Given the description of an element on the screen output the (x, y) to click on. 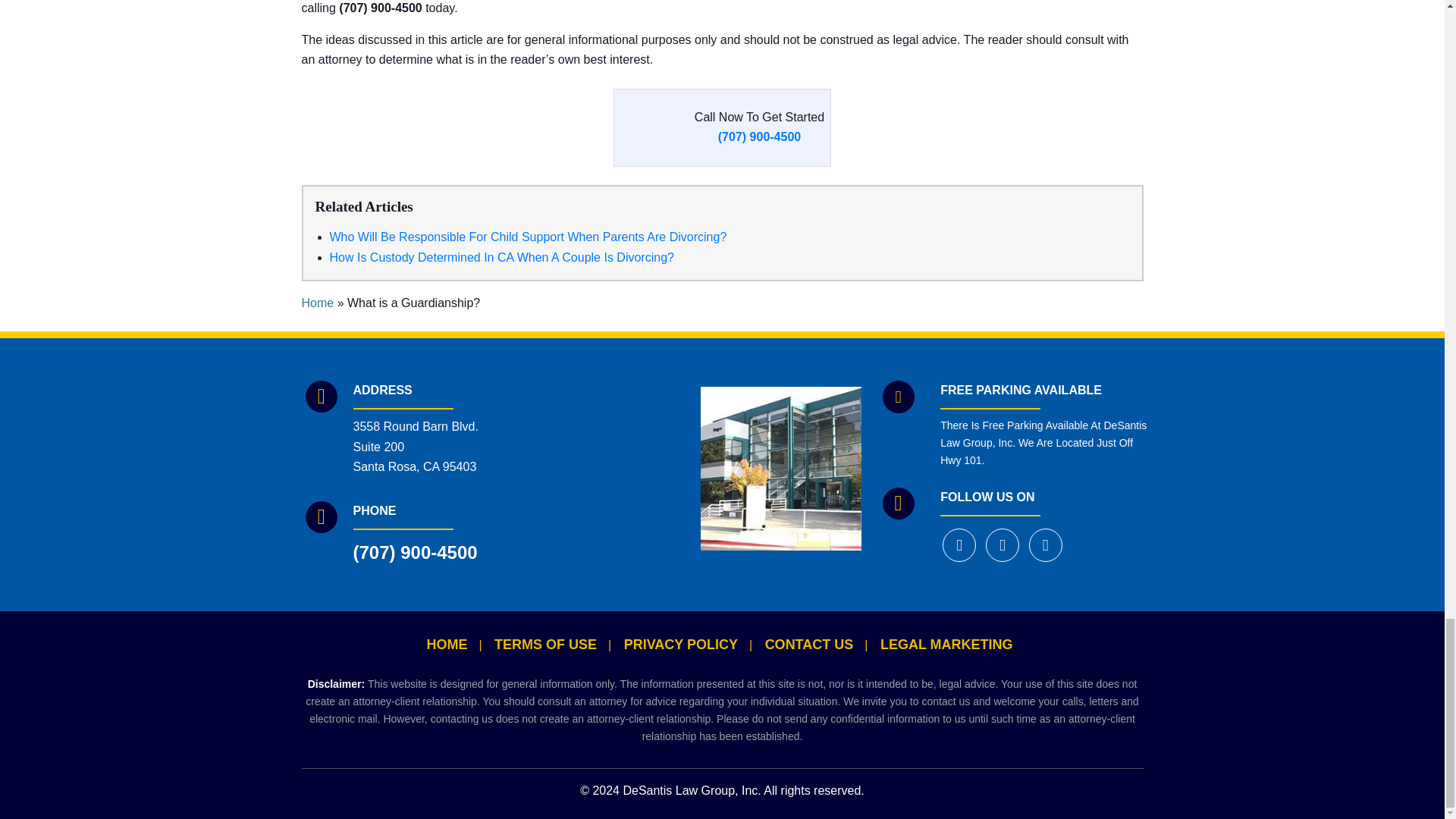
Home (317, 302)
Click to activate map (607, 467)
How Is Custody Determined In CA When A Couple Is Divorcing? (500, 256)
